Given the description of an element on the screen output the (x, y) to click on. 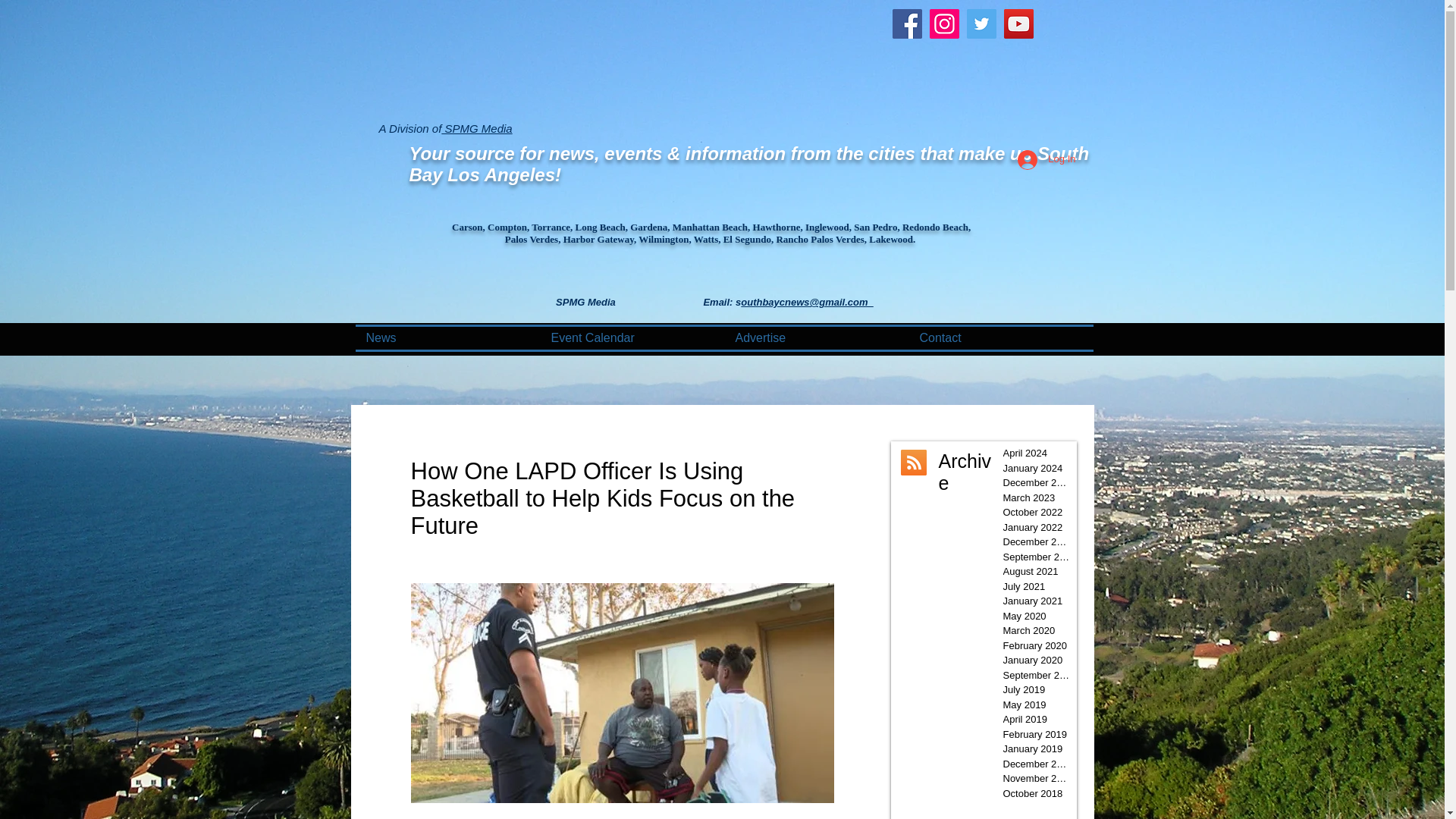
January 2020 (1036, 660)
 SPMG Media (476, 128)
September 2021 (1036, 556)
July 2019 (1036, 689)
February 2019 (1036, 734)
July 2021 (1036, 586)
January 2022 (1036, 527)
October 2022 (1036, 512)
August 2021 (1036, 571)
April 2024 (1036, 453)
